Given the description of an element on the screen output the (x, y) to click on. 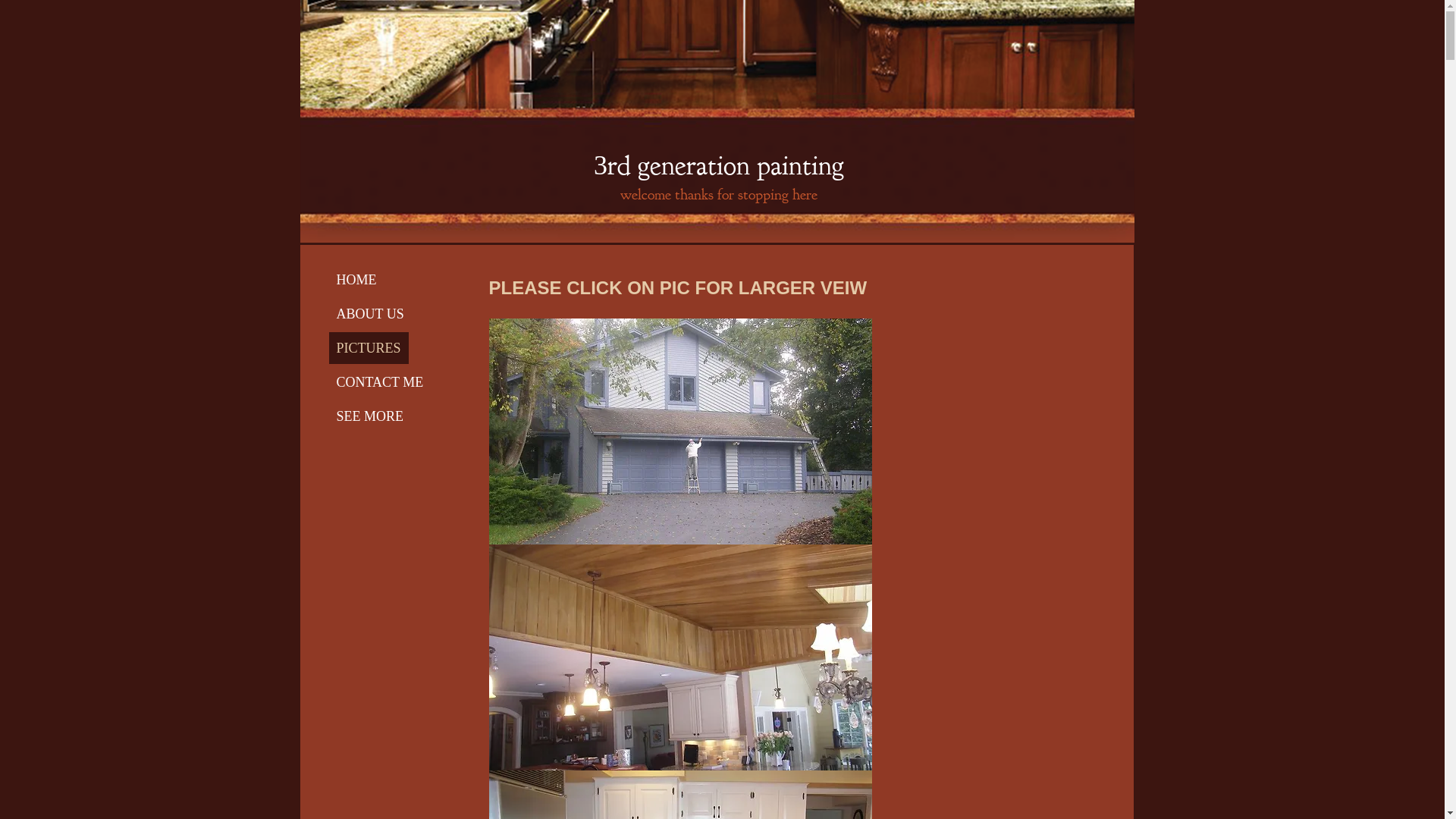
ABOUT US Element type: text (370, 313)
HOME Element type: text (356, 279)
PICTURES Element type: text (368, 348)
CONTACT ME Element type: text (380, 382)
SEE MORE Element type: text (370, 416)
